Given the description of an element on the screen output the (x, y) to click on. 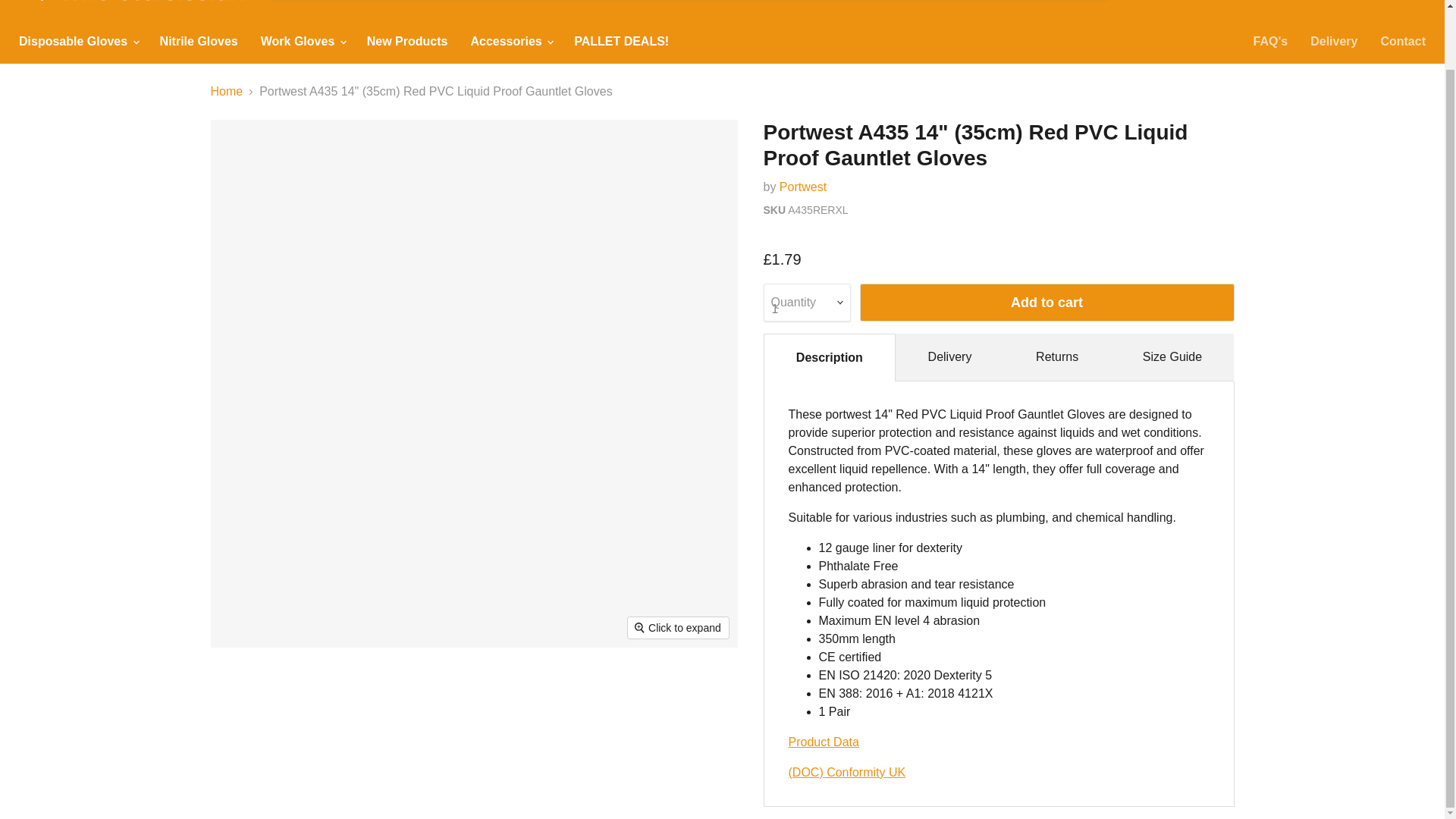
Portwest (802, 186)
Nitrile Gloves (198, 41)
New Products (407, 41)
PALLET DEALS! (620, 41)
Delivery (1333, 41)
Contact (1402, 41)
FAQ's (1270, 41)
